Given the description of an element on the screen output the (x, y) to click on. 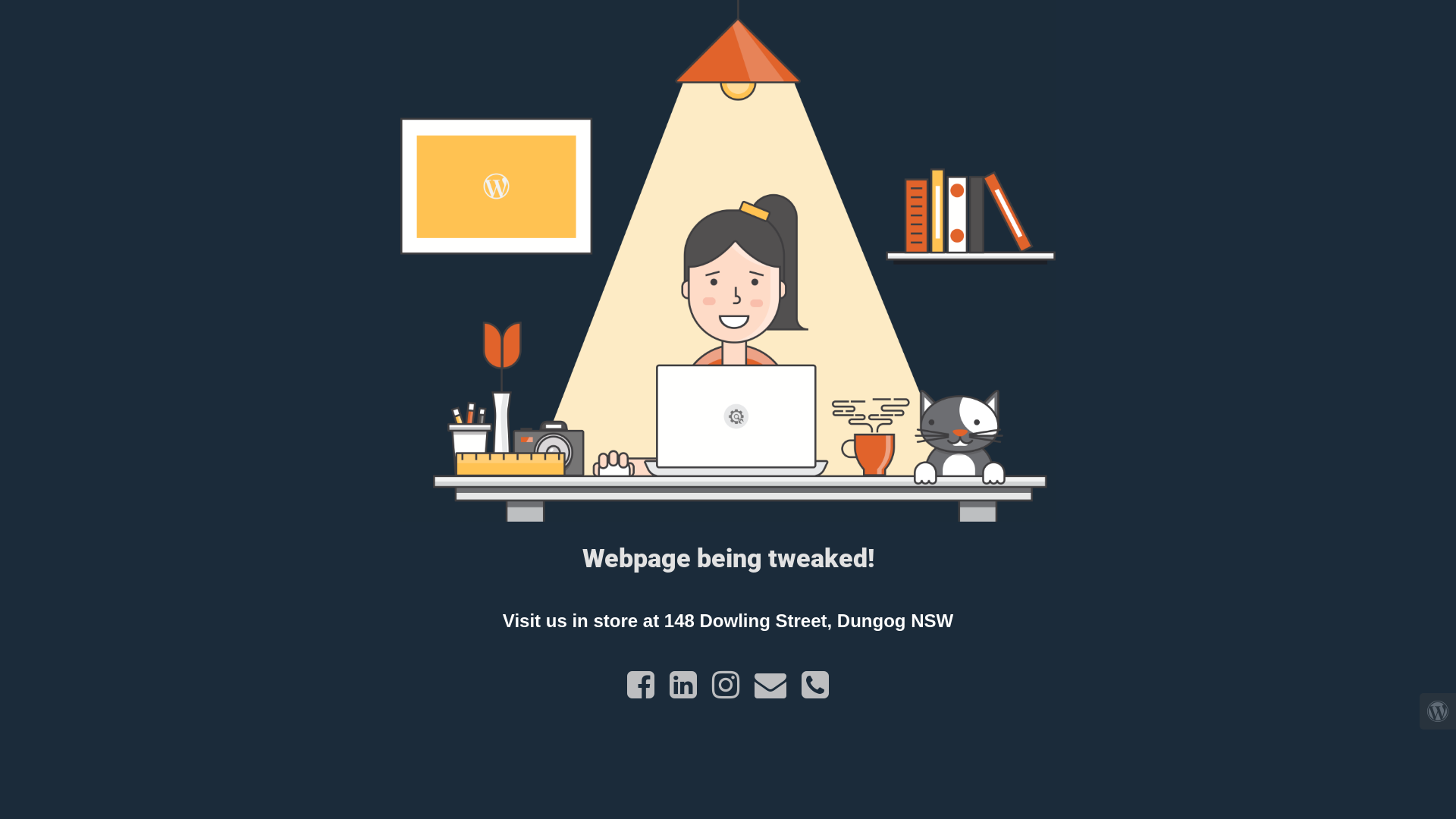
Cyber Chick at work in the dark Element type: hover (727, 260)
